Given the description of an element on the screen output the (x, y) to click on. 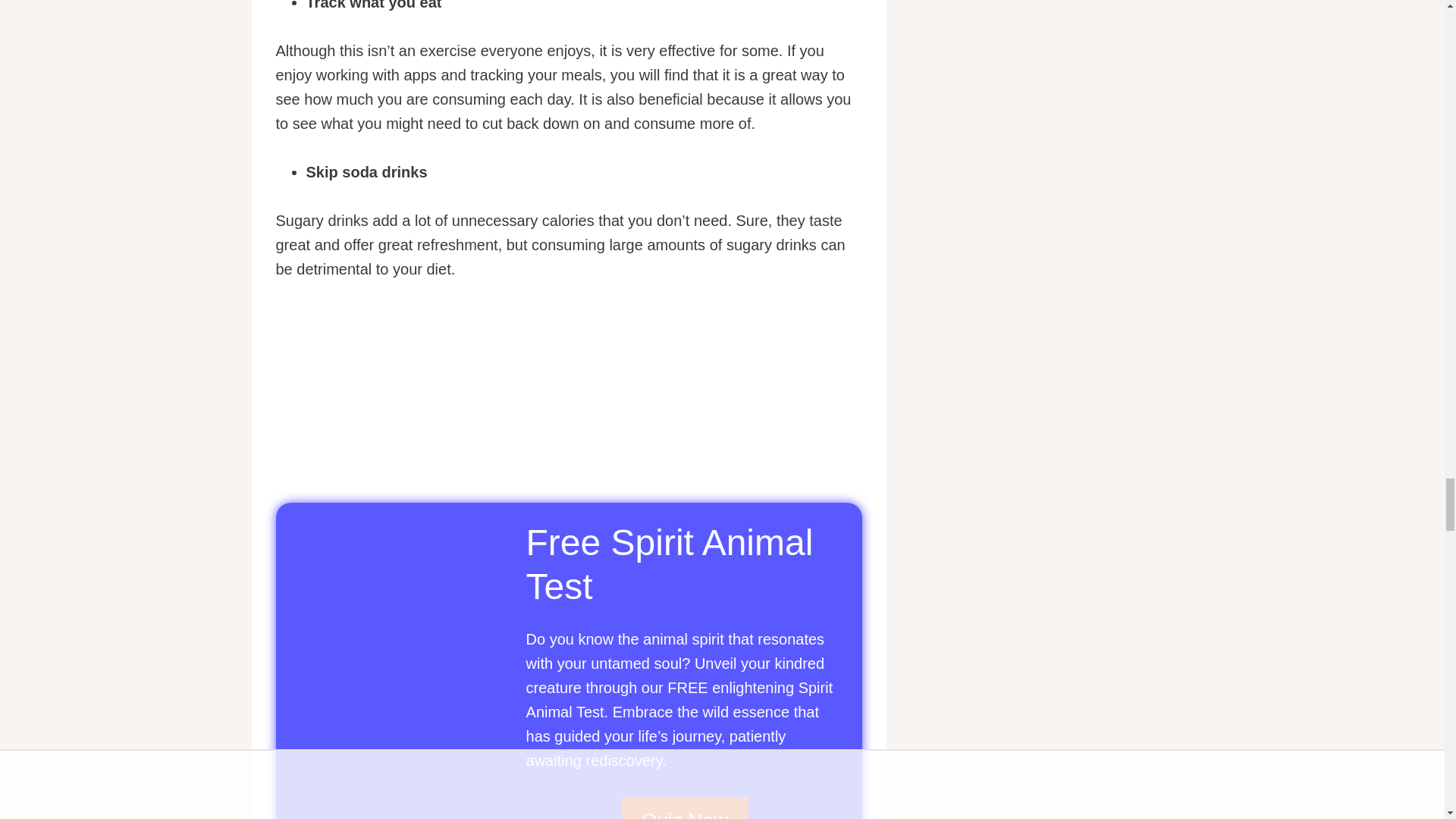
Quiz Now (684, 807)
